Given the description of an element on the screen output the (x, y) to click on. 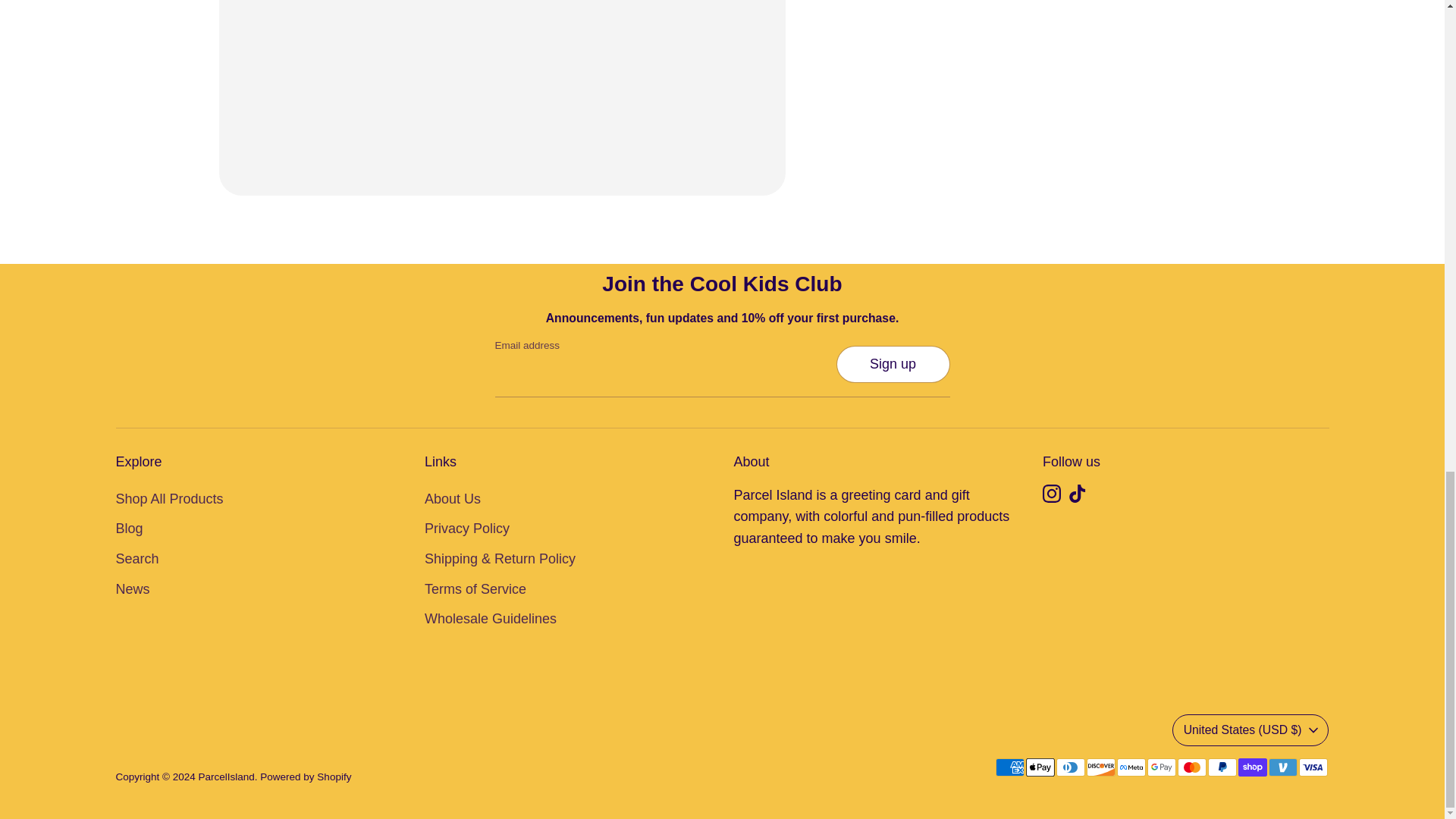
Google Pay (1160, 767)
American Express (1008, 767)
Meta Pay (1130, 767)
Discover (1100, 767)
Apple Pay (1039, 767)
Diners Club (1069, 767)
Mastercard (1190, 767)
